Given the description of an element on the screen output the (x, y) to click on. 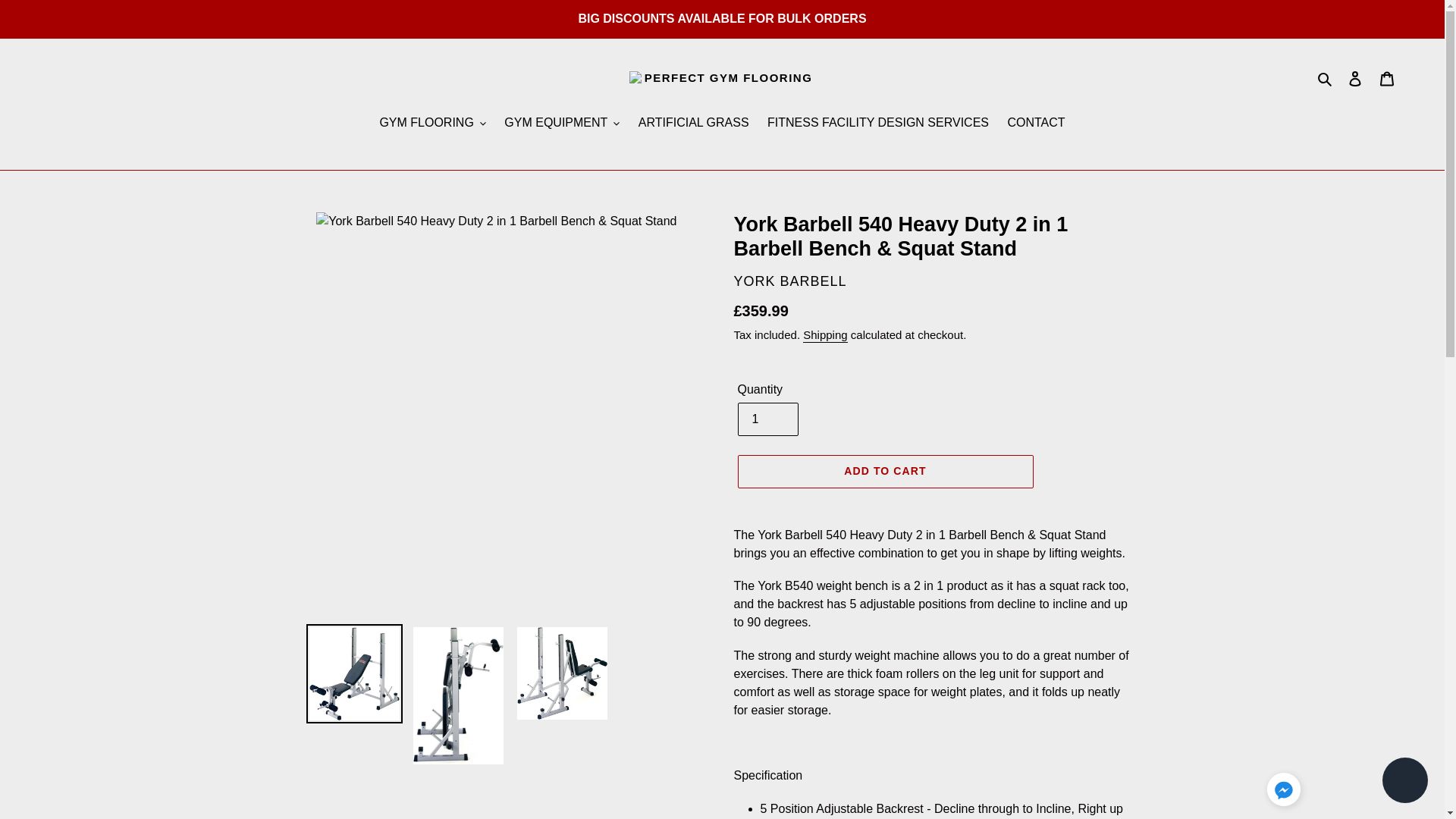
Cart (1387, 78)
Search (1326, 77)
Log in (1355, 78)
1 (766, 418)
BIG DISCOUNTS AVAILABLE FOR BULK ORDERS (721, 18)
GYM FLOORING (432, 123)
Shopify online store chat (1404, 781)
